Given the description of an element on the screen output the (x, y) to click on. 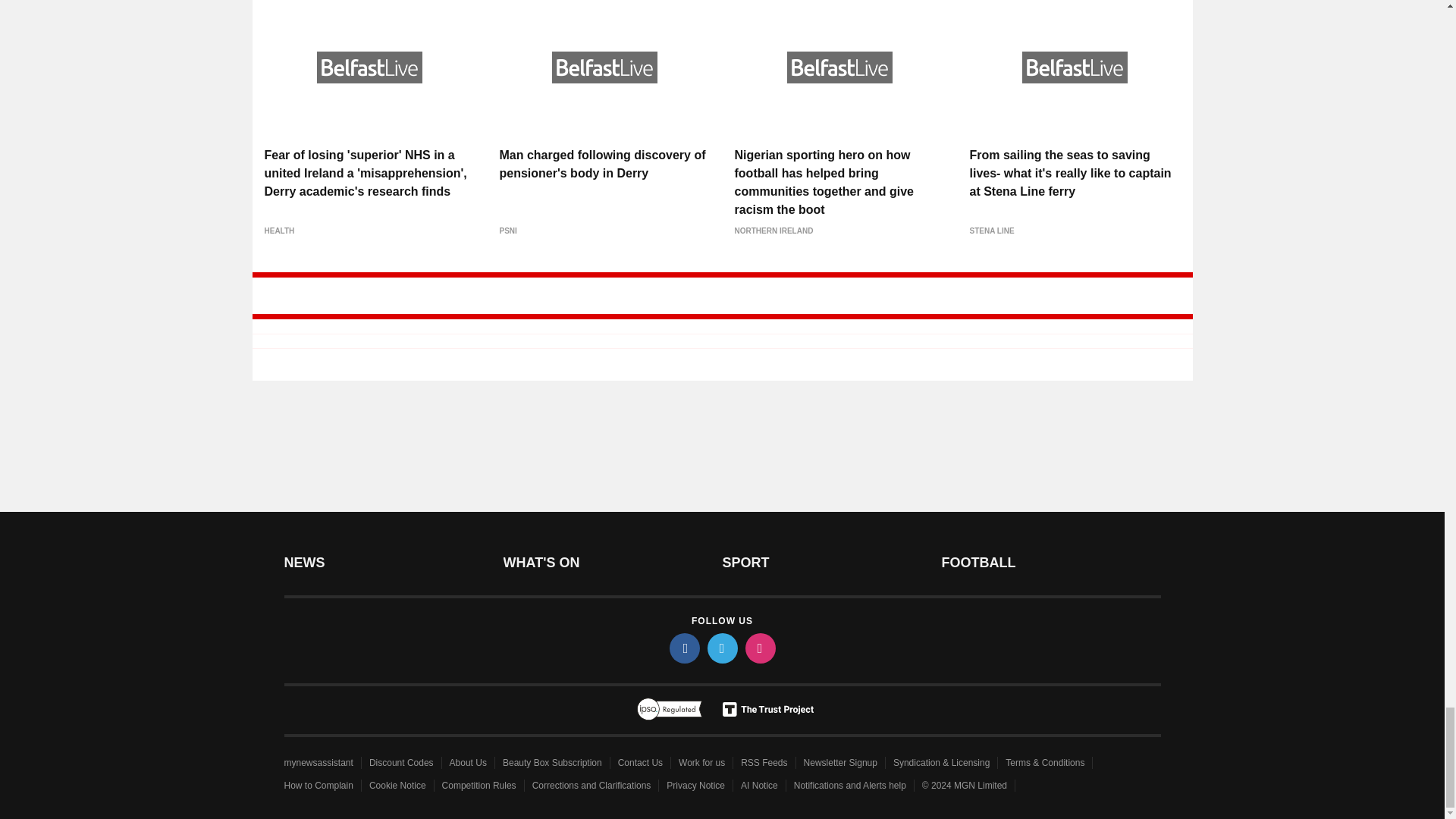
instagram (759, 648)
twitter (721, 648)
facebook (683, 648)
